Given the description of an element on the screen output the (x, y) to click on. 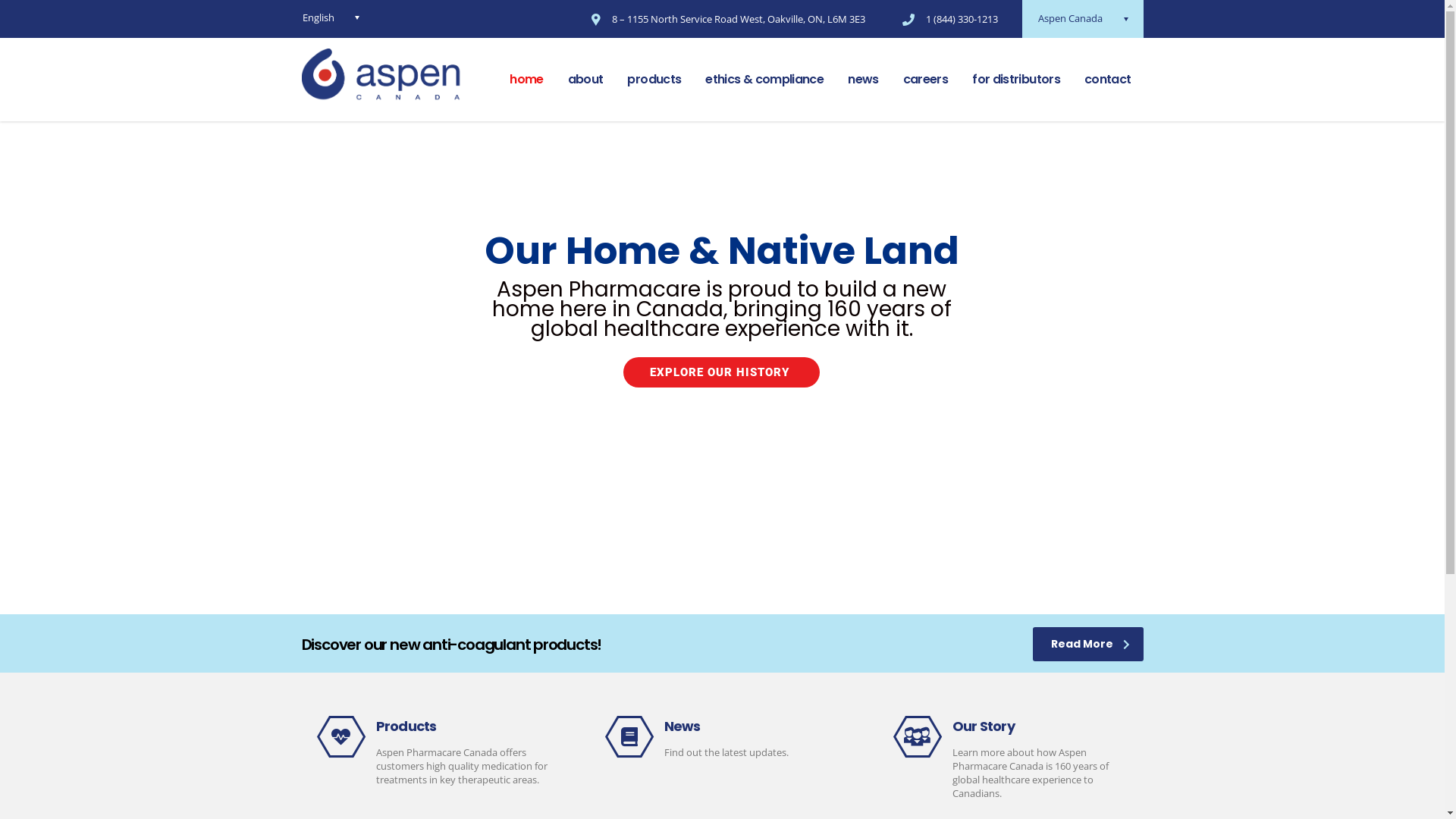
for distributors Element type: text (1016, 79)
home Element type: text (526, 79)
News
Find out the latest updates. Element type: text (722, 737)
English Element type: text (330, 17)
products Element type: text (654, 79)
careers Element type: text (925, 79)
ethics & compliance Element type: text (764, 79)
about Element type: text (585, 79)
news Element type: text (862, 79)
contact Element type: text (1107, 79)
Read More Element type: text (1087, 644)
